Given the description of an element on the screen output the (x, y) to click on. 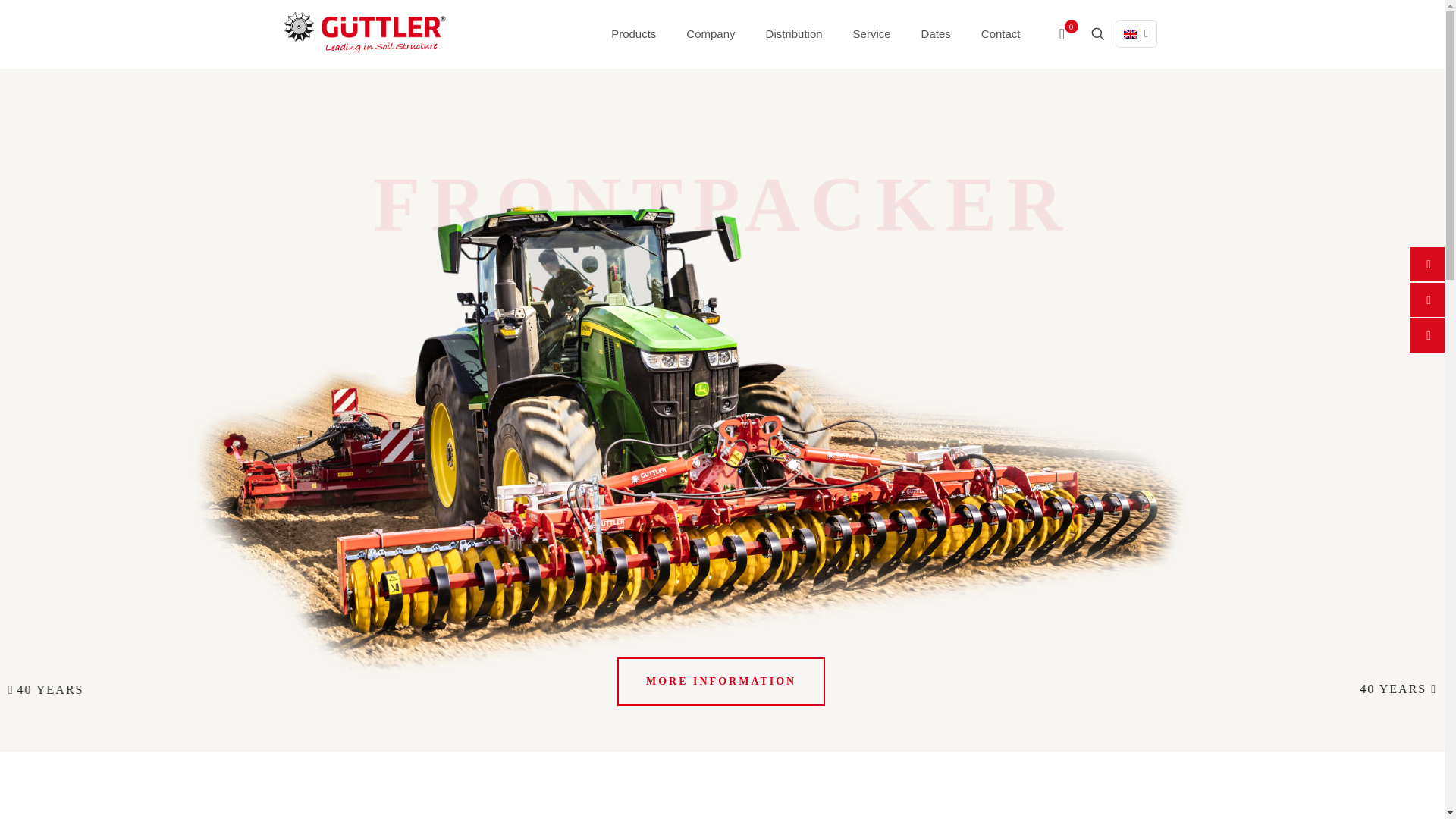
Contact (1000, 33)
Service (871, 33)
Products (633, 33)
MORE INFORMATION (721, 681)
0 (1067, 33)
Distribution (794, 33)
GUETTLER GmbH  (365, 33)
Company (710, 33)
